Given the description of an element on the screen output the (x, y) to click on. 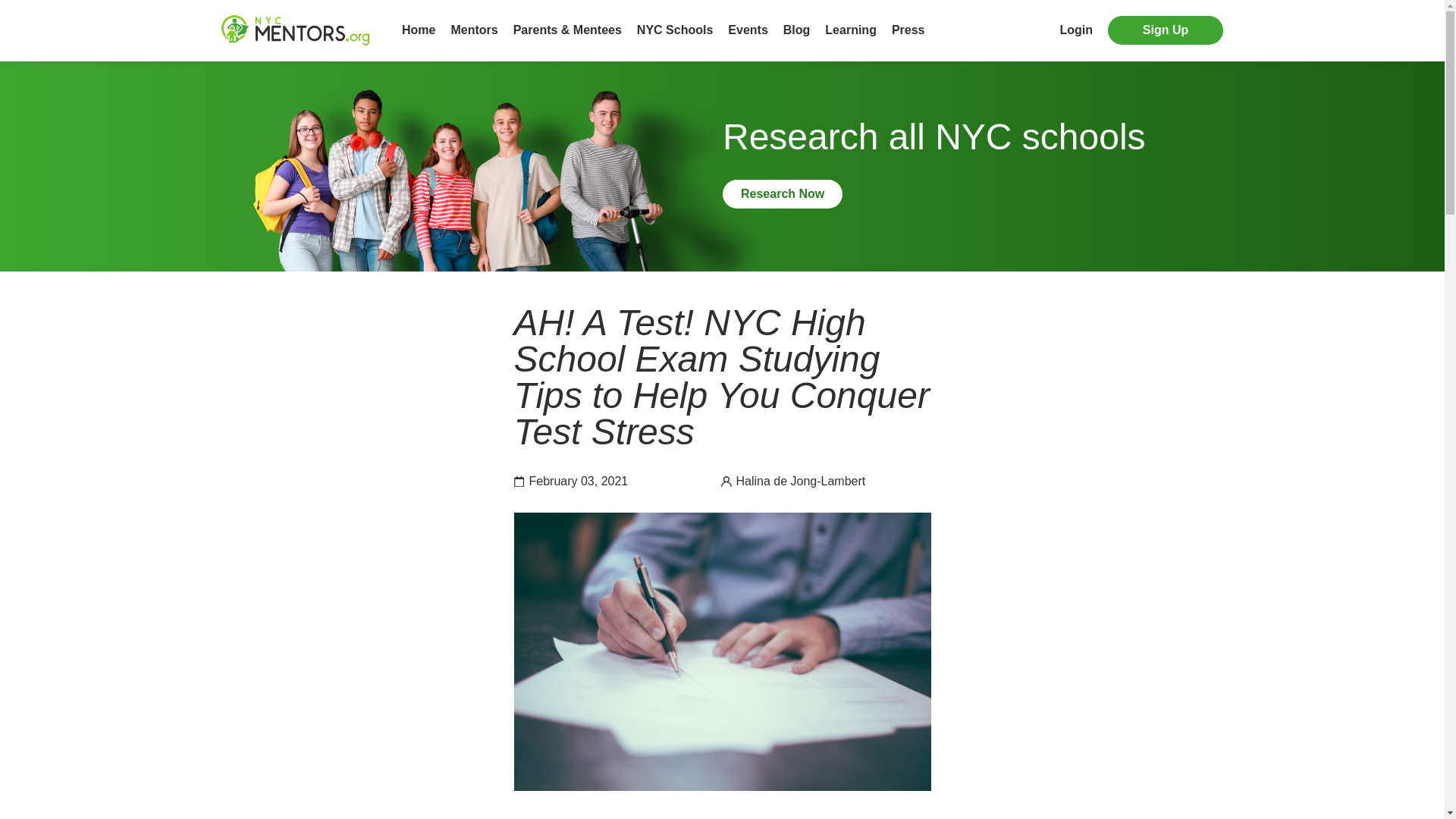
Sign Up (1165, 30)
NYC Schools (675, 29)
Research Now (782, 193)
Blog (796, 29)
Home (418, 29)
Mentors (473, 29)
Events (747, 29)
Login (1076, 29)
Learning (850, 29)
Press (907, 29)
